Given the description of an element on the screen output the (x, y) to click on. 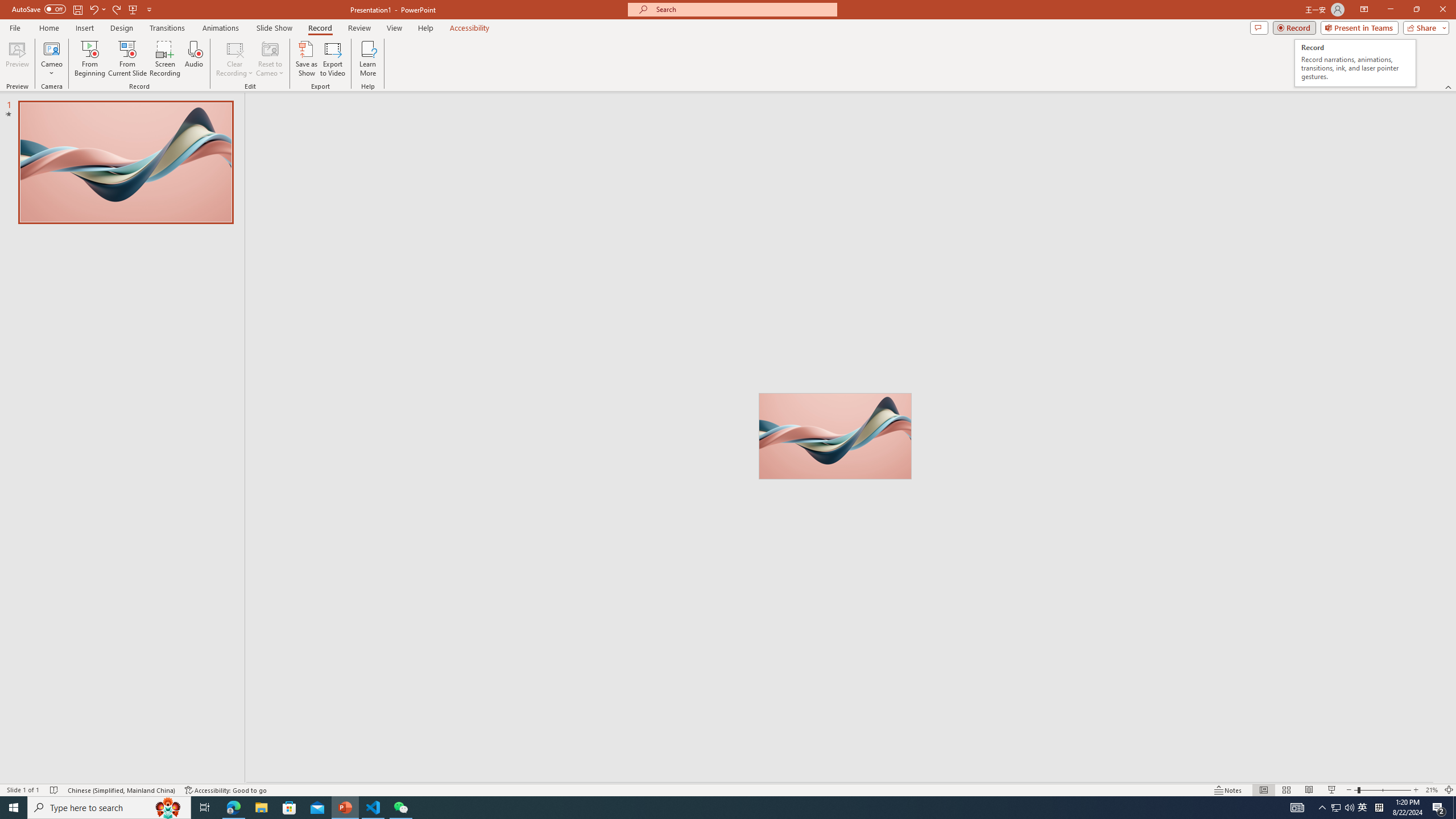
Accessibility Checker Accessibility: Good to go (226, 790)
